Given the description of an element on the screen output the (x, y) to click on. 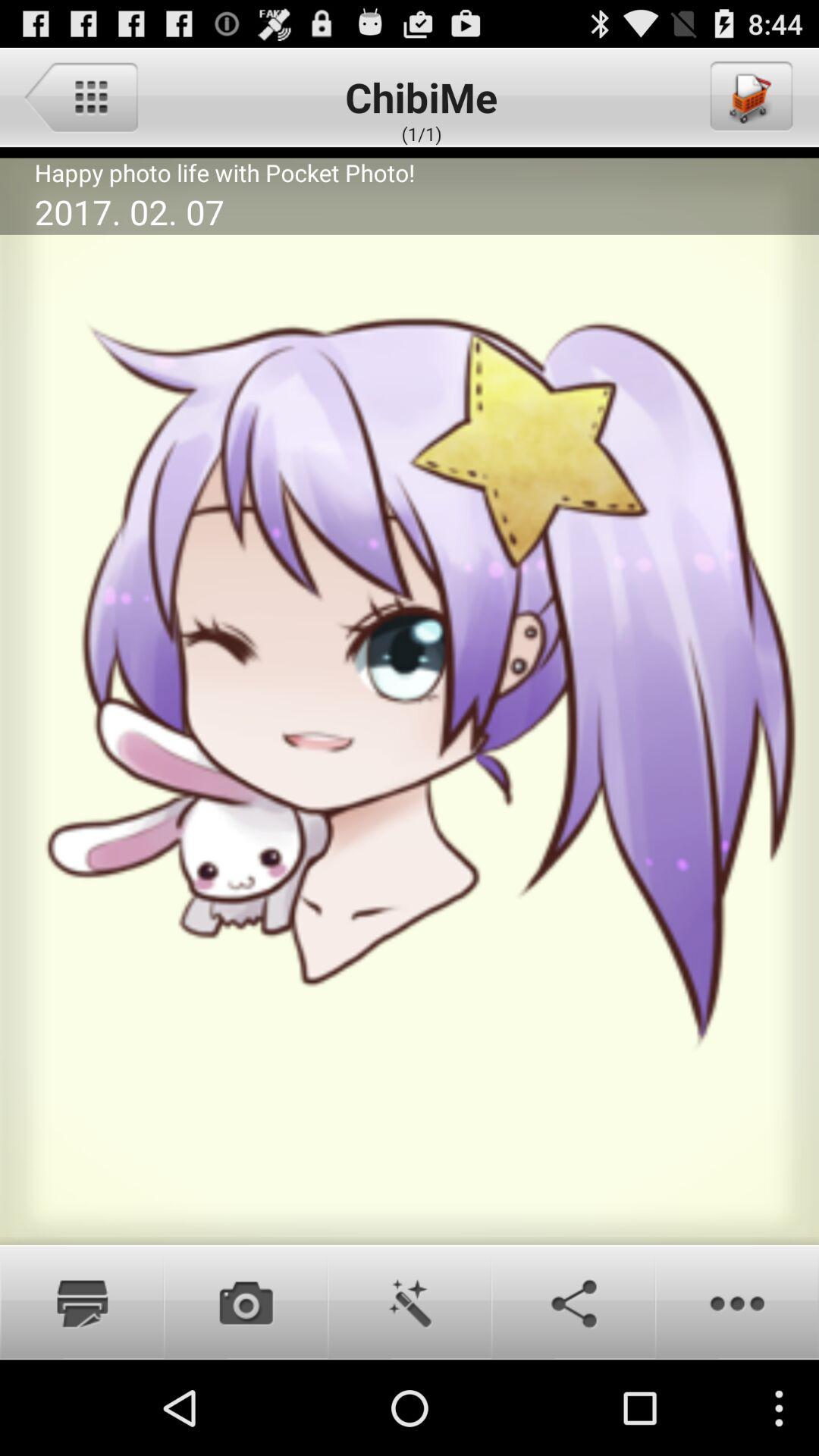
more options menu (737, 1301)
